Given the description of an element on the screen output the (x, y) to click on. 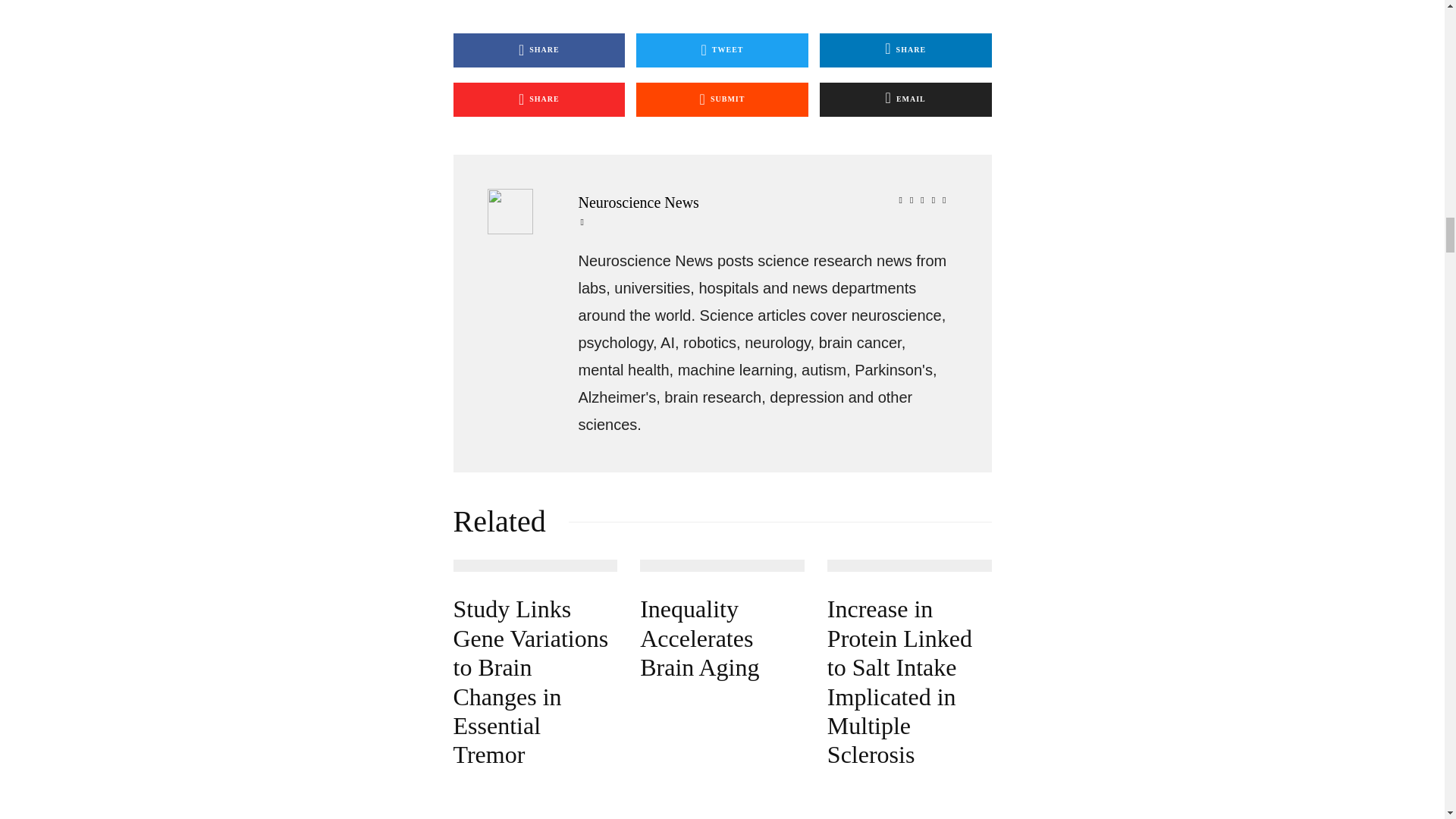
TWEET (722, 50)
SHARE (539, 99)
SHARE (539, 50)
SUBMIT (722, 99)
EMAIL (905, 99)
SHARE (905, 50)
Neuroscience News (765, 202)
